Given the description of an element on the screen output the (x, y) to click on. 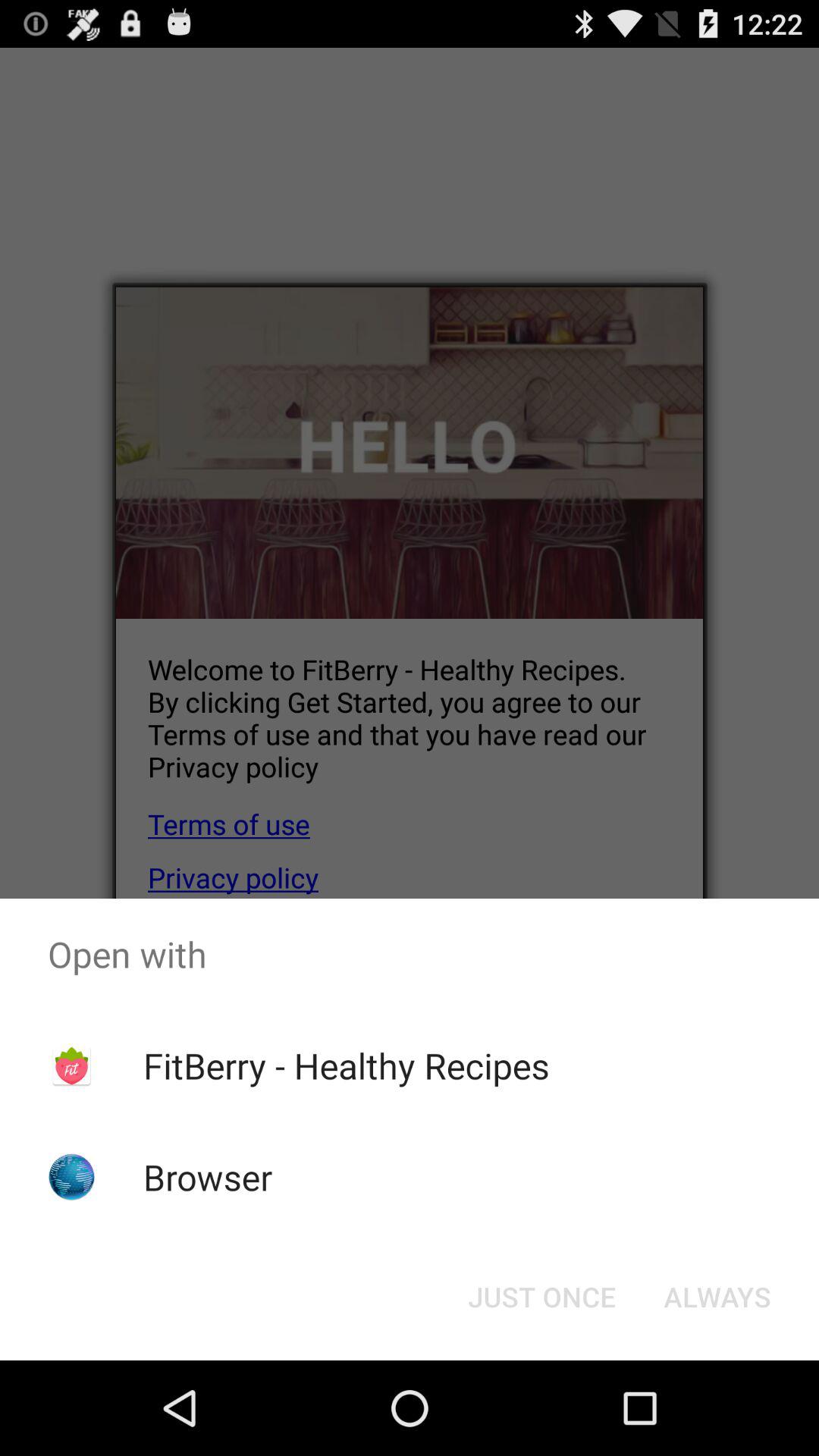
scroll to the just once (541, 1296)
